Given the description of an element on the screen output the (x, y) to click on. 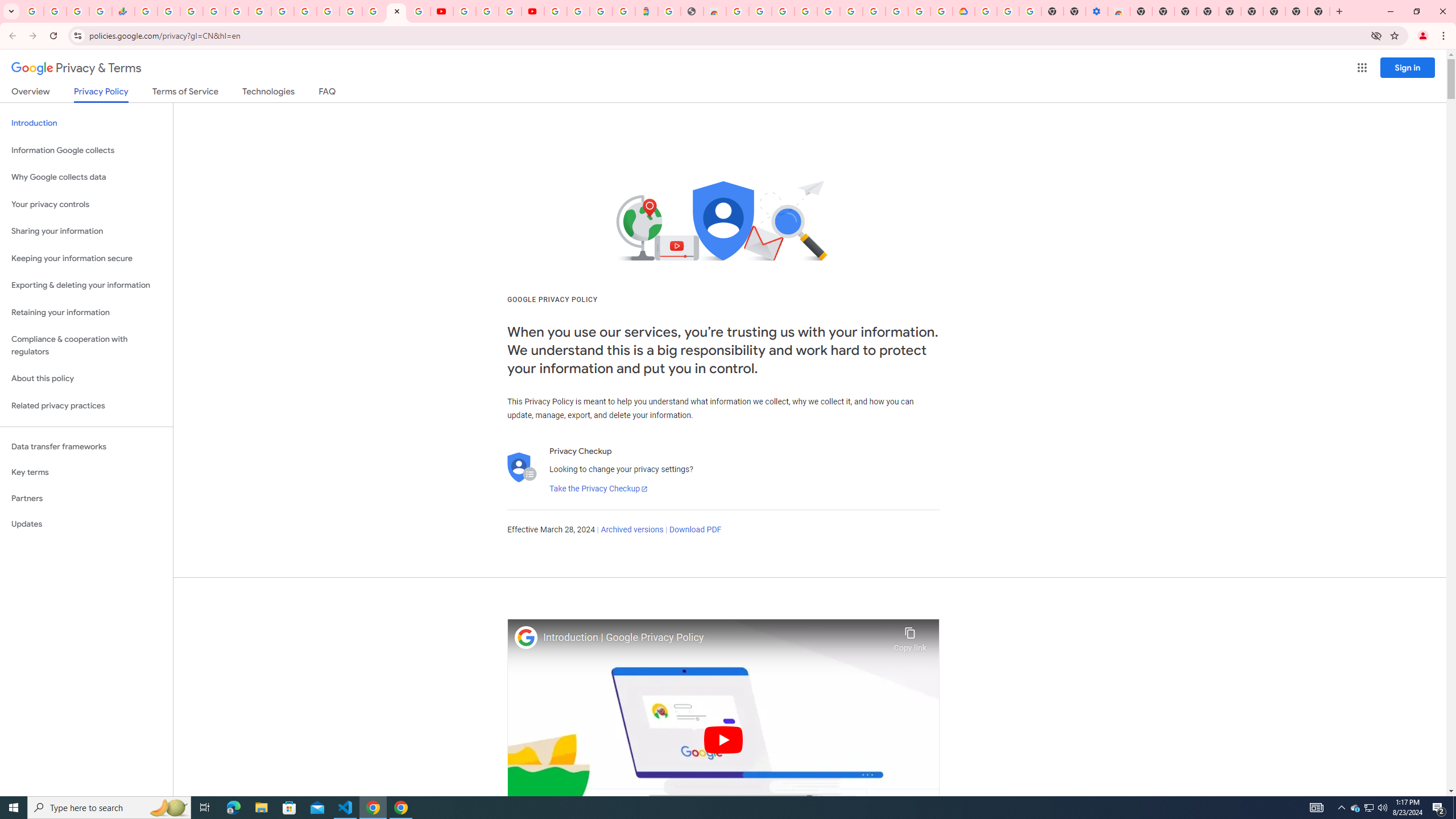
Atour Hotel - Google hotels (646, 11)
Download PDF (695, 529)
Archived versions (631, 529)
Retaining your information (86, 312)
Sign in - Google Accounts (373, 11)
Forward (32, 35)
YouTube (304, 11)
New Tab (1319, 11)
Privacy Policy (100, 94)
Content Creator Programs & Opportunities - YouTube Creators (532, 11)
Turn cookies on or off - Computer - Google Account Help (1029, 11)
Partners (86, 497)
